Given the description of an element on the screen output the (x, y) to click on. 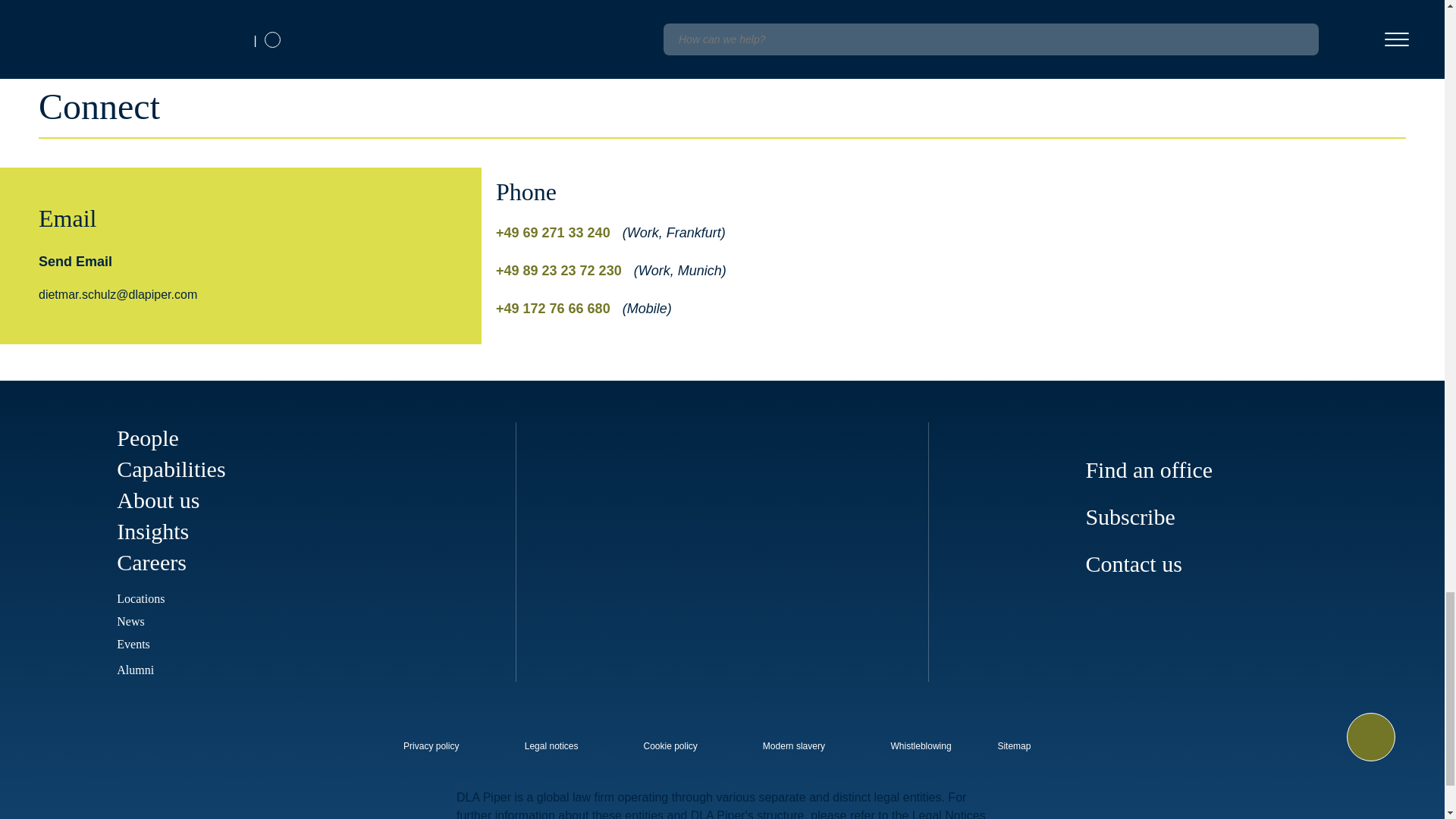
external (1024, 741)
internal (793, 746)
Send Email (75, 261)
internal (430, 746)
internal (920, 746)
View All (1371, 33)
internal (670, 746)
internal (549, 746)
